Given the description of an element on the screen output the (x, y) to click on. 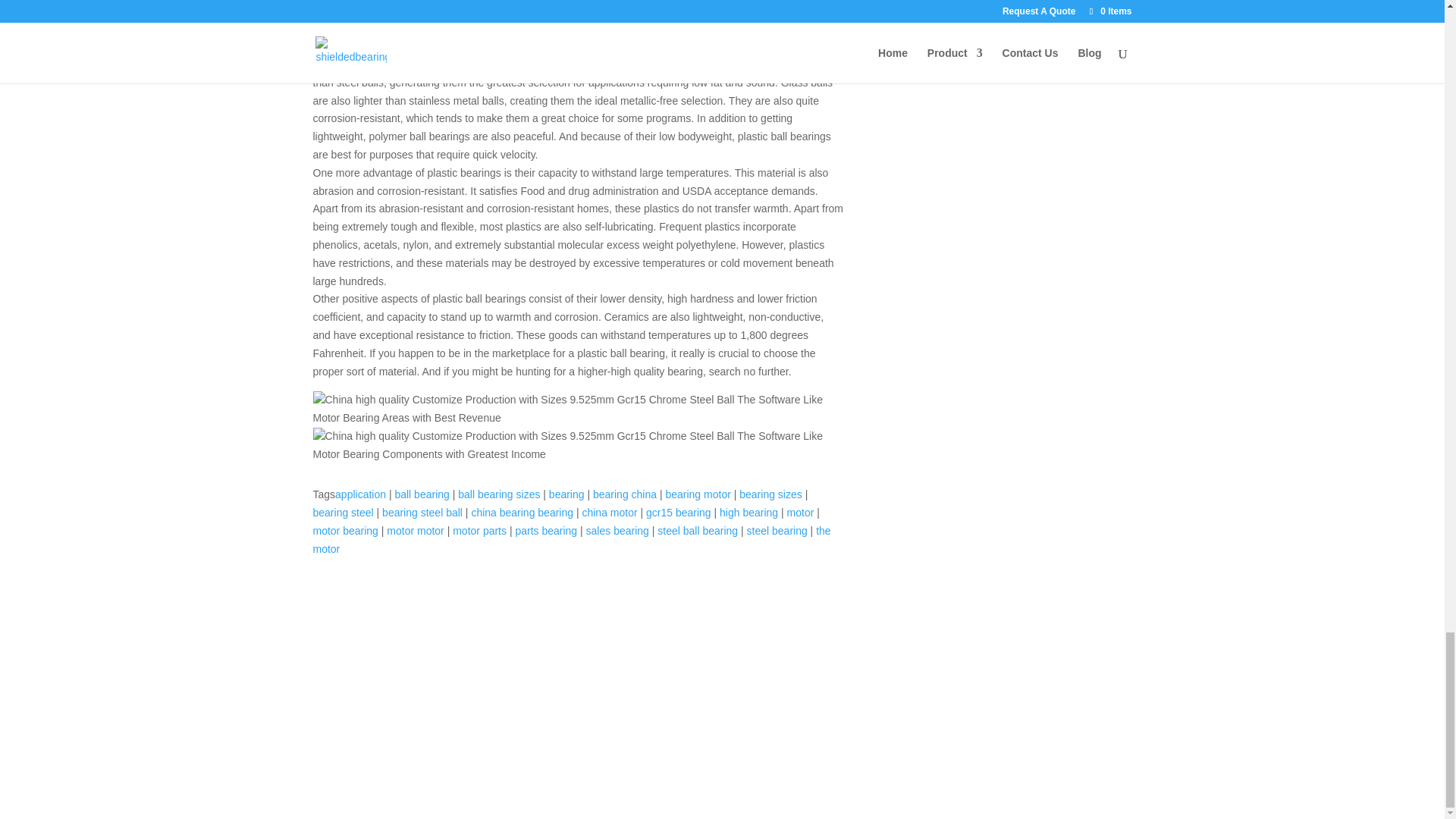
steel bearing (777, 530)
china motor (608, 512)
motor motor (415, 530)
motor bearing (345, 530)
bearing (566, 494)
parts bearing (545, 530)
bearing steel ball (422, 512)
gcr15 bearing (678, 512)
ball bearing sizes (499, 494)
bearing steel (342, 512)
steel ball bearing (698, 530)
sales bearing (617, 530)
china bearing bearing (521, 512)
application (359, 494)
ball bearing (421, 494)
